Given the description of an element on the screen output the (x, y) to click on. 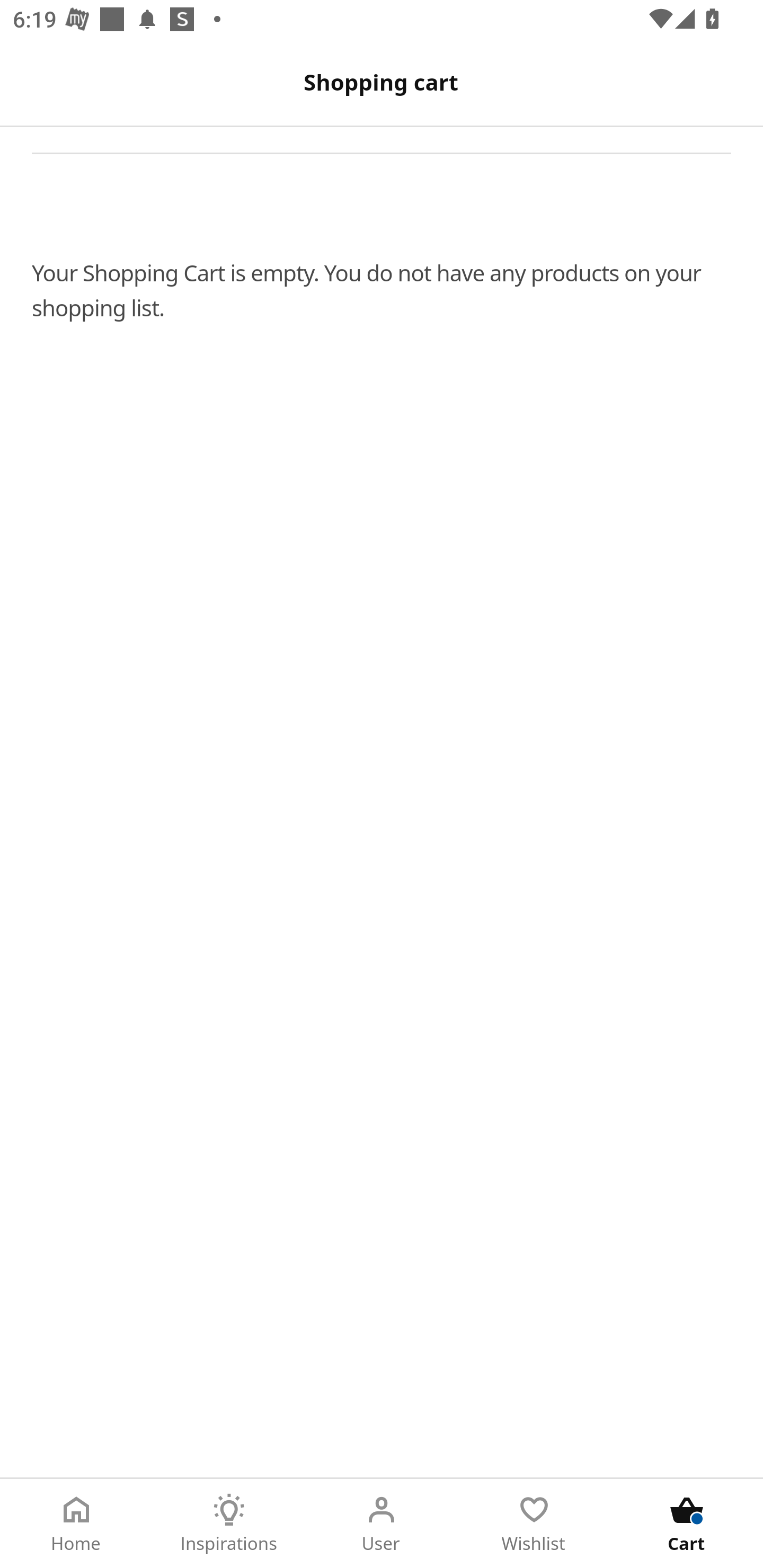
Home
Tab 1 of 5 (76, 1522)
Inspirations
Tab 2 of 5 (228, 1522)
User
Tab 3 of 5 (381, 1522)
Wishlist
Tab 4 of 5 (533, 1522)
Cart
Tab 5 of 5 (686, 1522)
